Given the description of an element on the screen output the (x, y) to click on. 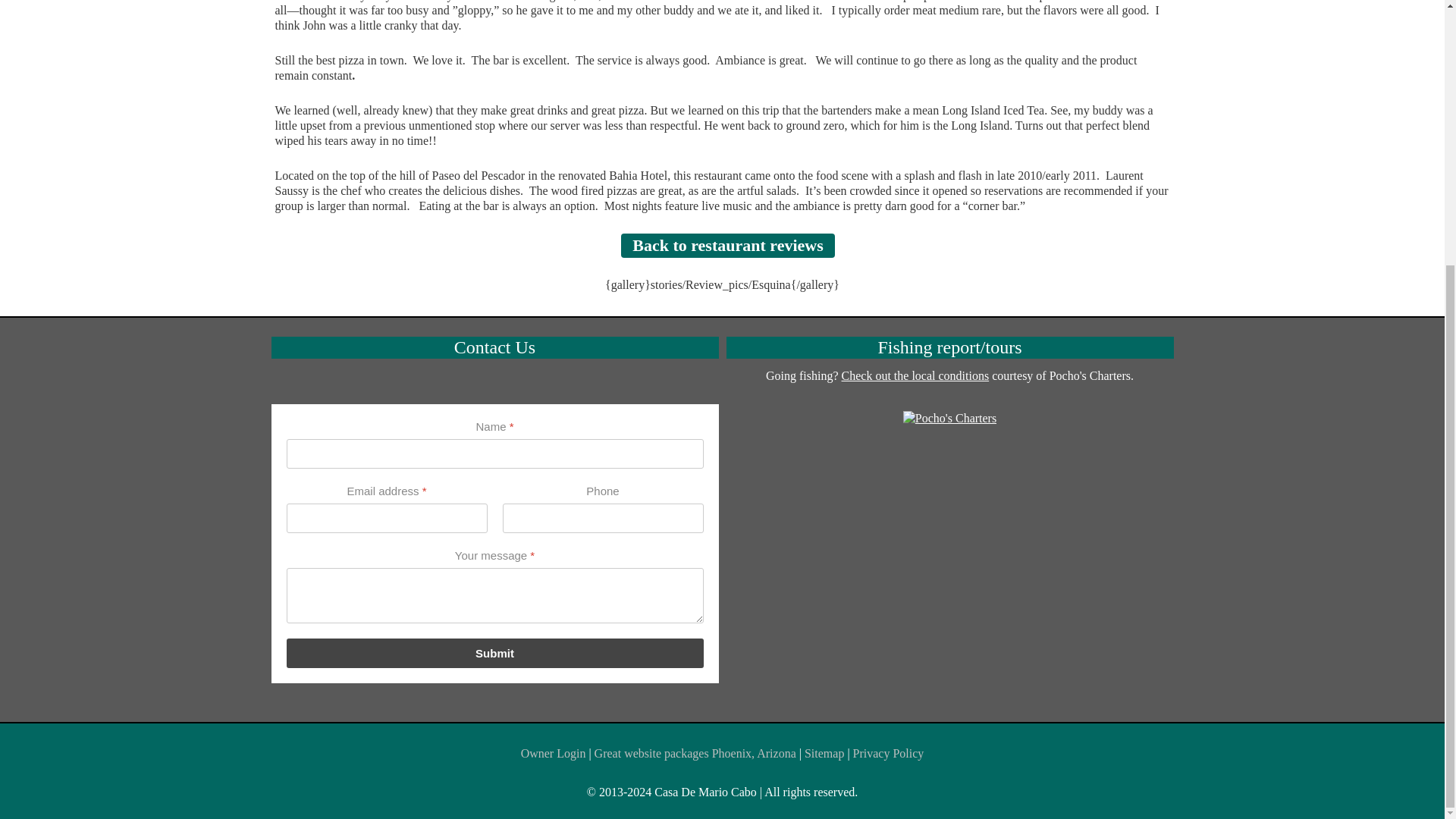
Submit (494, 653)
Sitemap (824, 753)
Check out the local conditions (915, 375)
Owner Login (553, 753)
Back to restaurant reviews (727, 245)
Privacy Policy (888, 753)
Great website packages Phoenix, Arizona (695, 753)
